Given the description of an element on the screen output the (x, y) to click on. 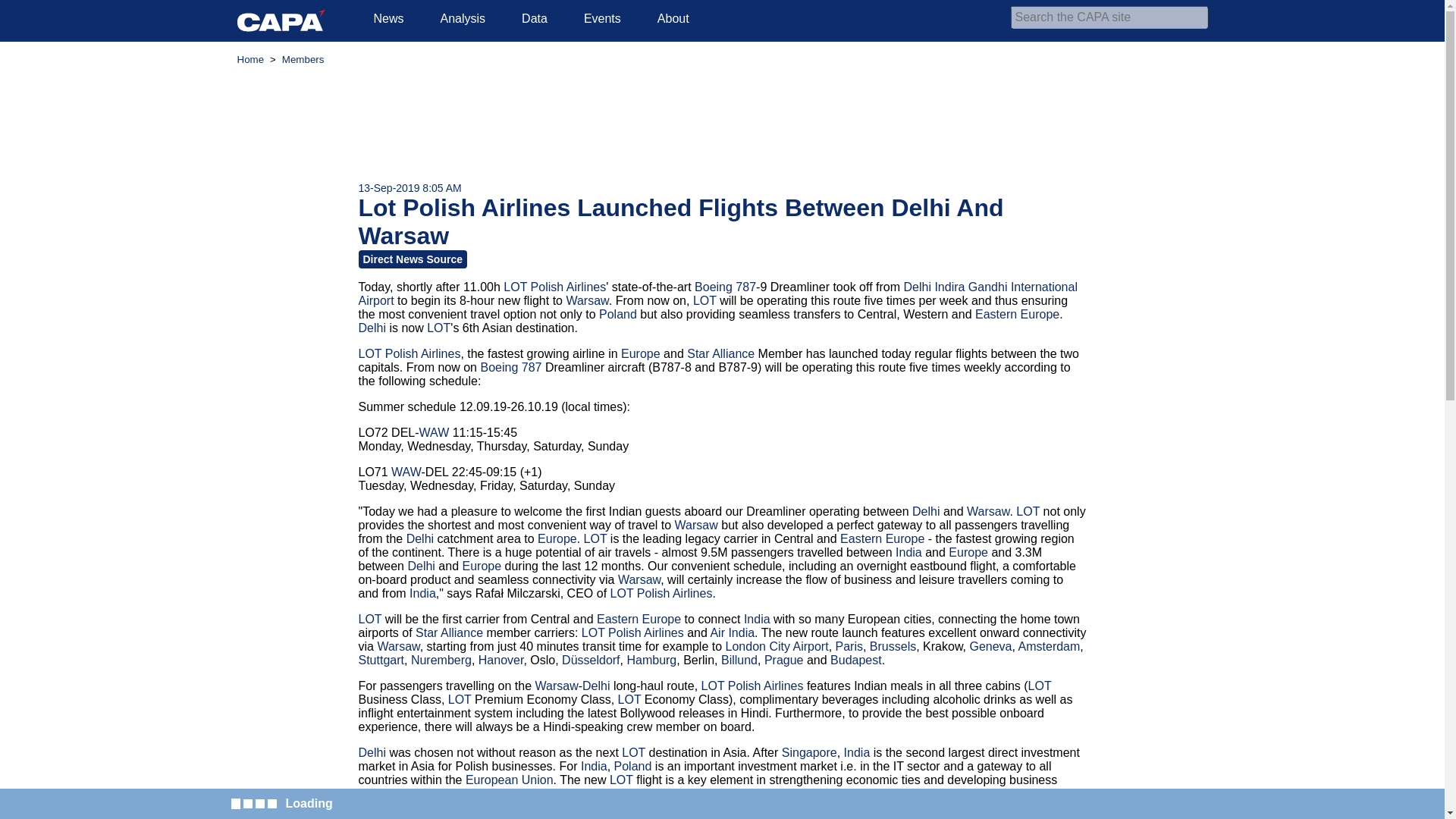
More information on Boeing (499, 367)
LOT Polish Airlines (554, 286)
More information on Eastern Europe (1017, 314)
More information on Poland (617, 314)
Poland (617, 314)
787 (745, 286)
More information on WAW (405, 472)
CAPA - Centre for Aviation (279, 20)
About (673, 18)
More information on Star Alliance (720, 353)
